Given the description of an element on the screen output the (x, y) to click on. 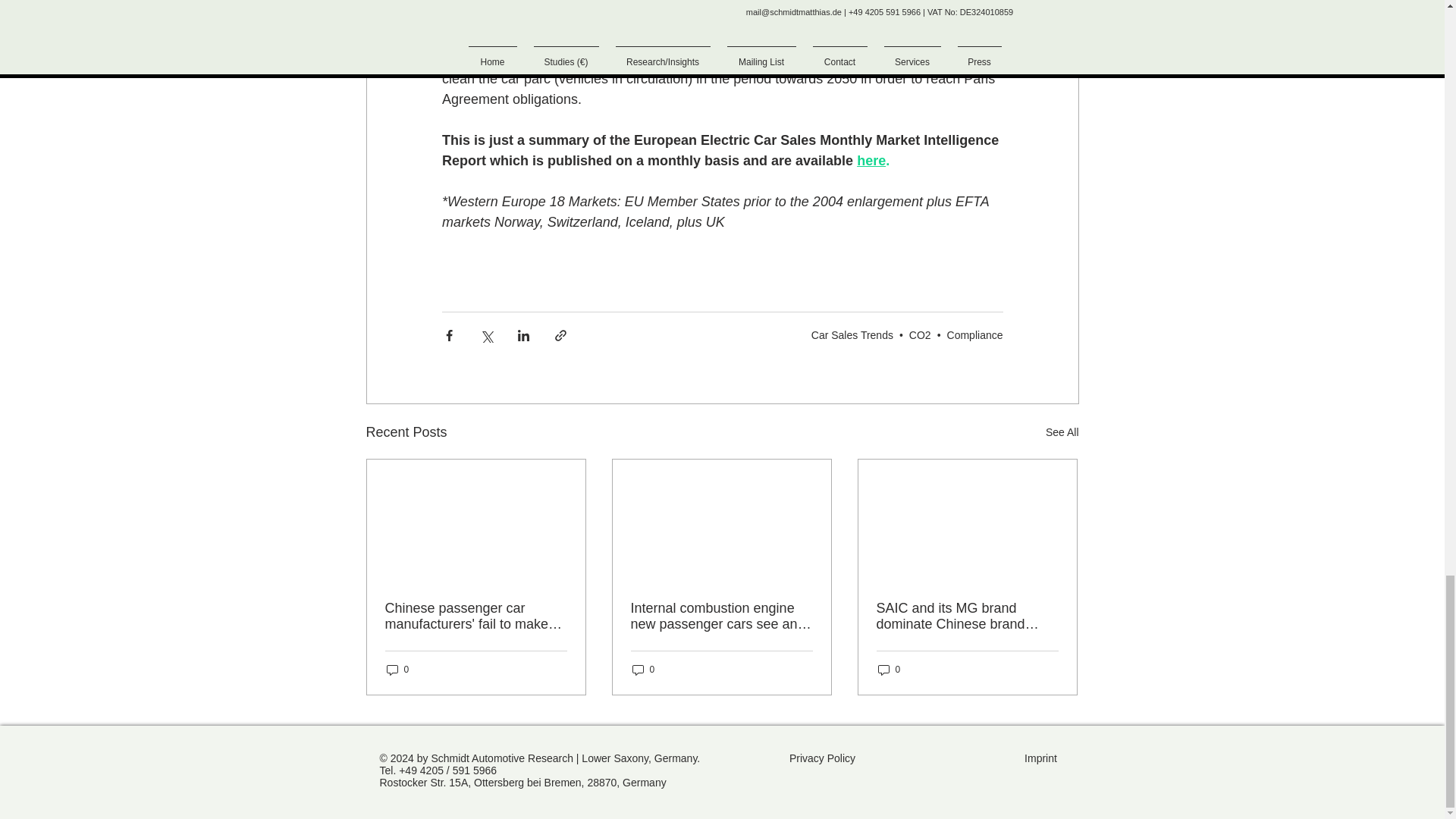
here (871, 160)
Car Sales Trends (851, 335)
CO2 (919, 335)
